Given the description of an element on the screen output the (x, y) to click on. 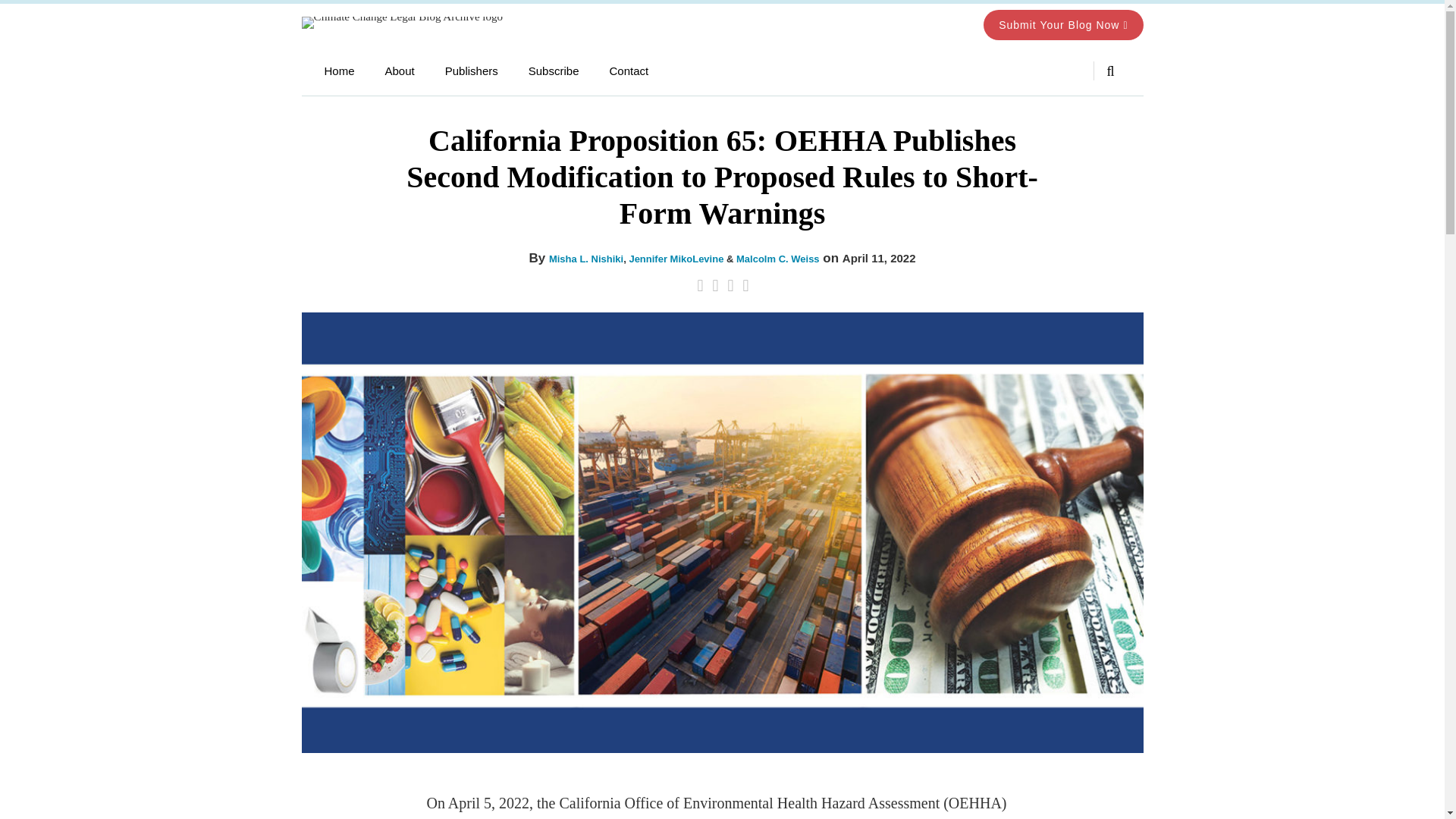
About (399, 71)
Malcolm C. Weiss (777, 258)
Jennifer MikoLevine (675, 258)
Publishers (471, 71)
Subscribe (553, 71)
Home (339, 71)
Contact (627, 71)
Misha L. Nishiki (585, 258)
Submit Your Blog Now (1063, 24)
